Given the description of an element on the screen output the (x, y) to click on. 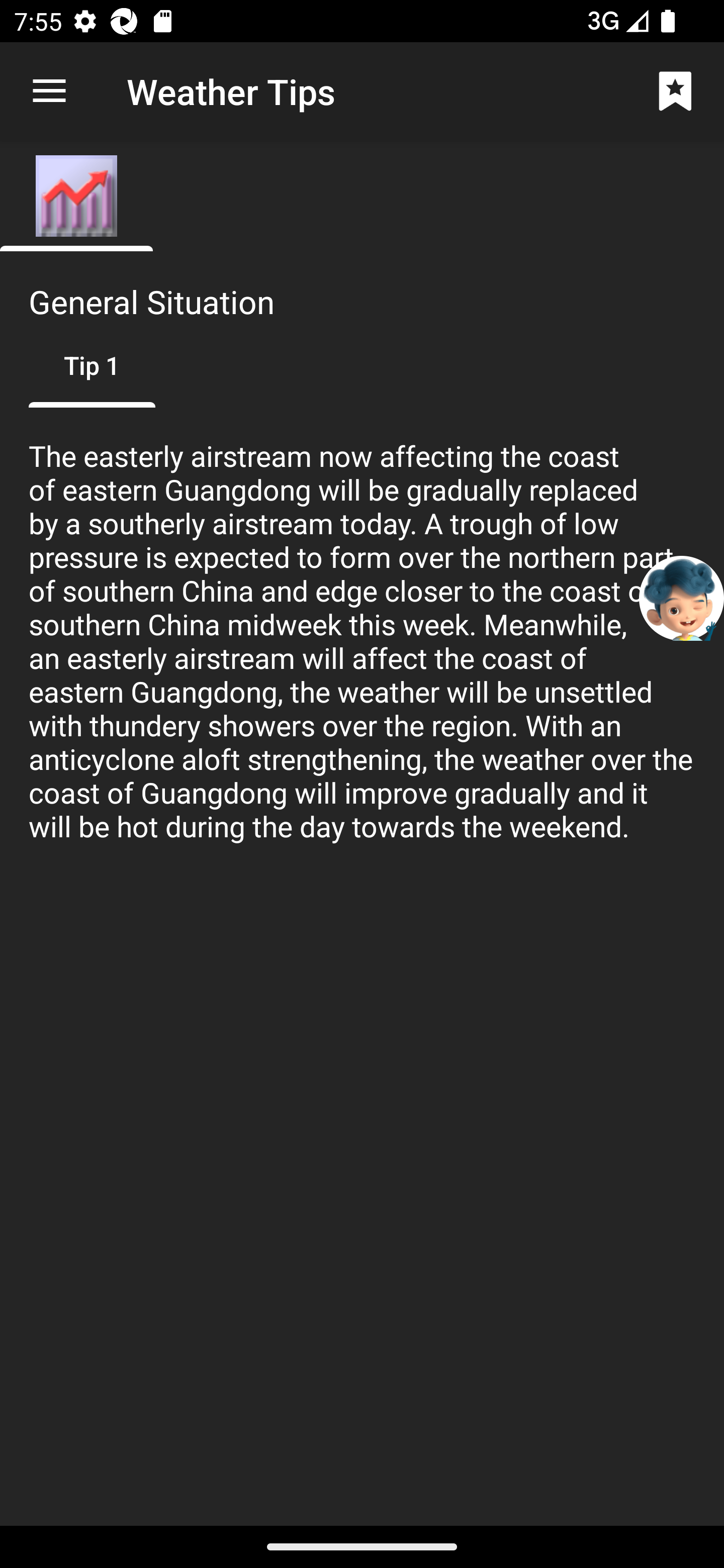
Navigate up (49, 91)
Bookmark added (674, 90)
Chatbot (681, 598)
